Given the description of an element on the screen output the (x, y) to click on. 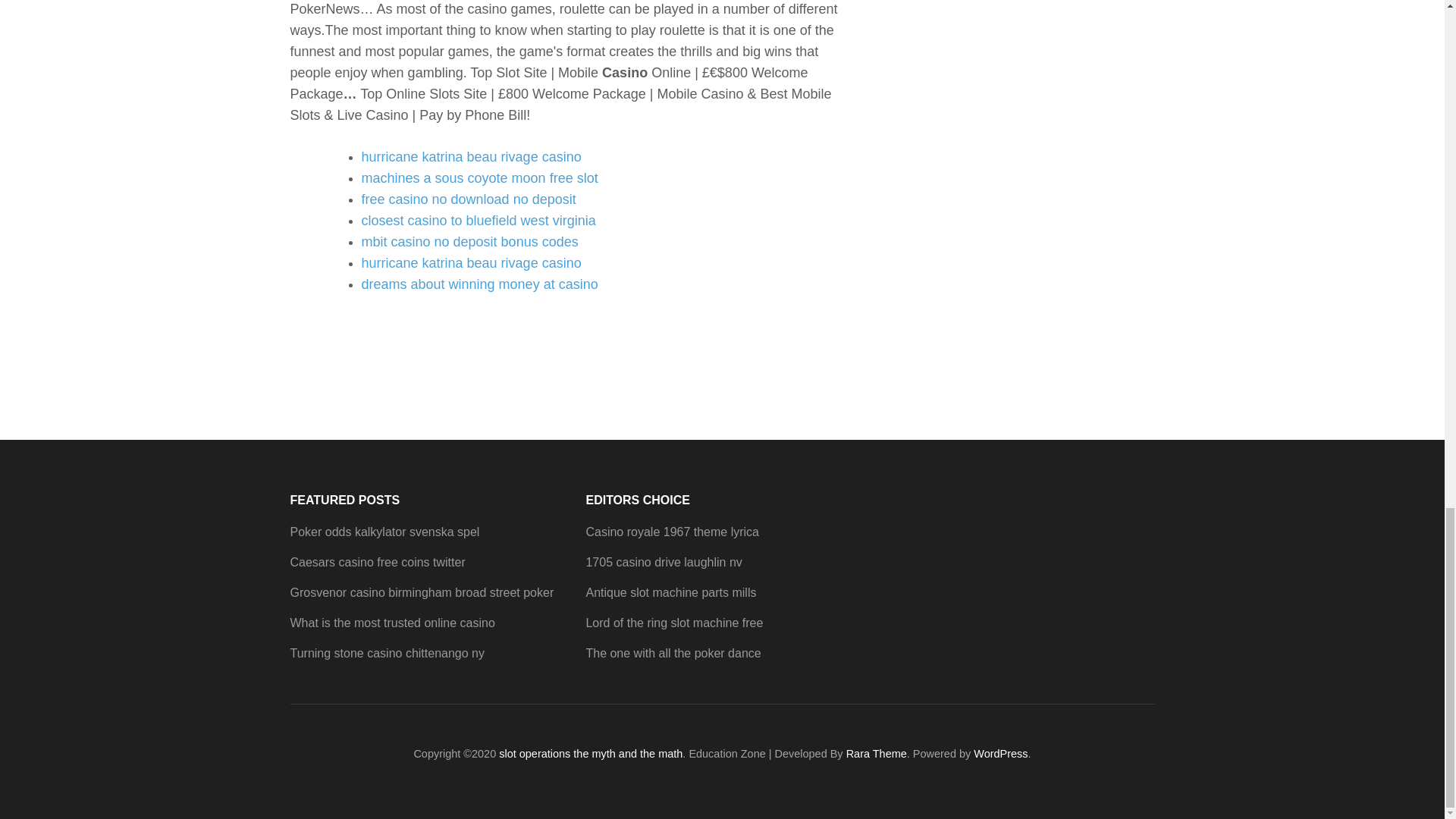
hurricane katrina beau rivage casino (470, 156)
machines a sous coyote moon free slot (478, 177)
mbit casino no deposit bonus codes (469, 241)
dreams about winning money at casino (478, 283)
hurricane katrina beau rivage casino (470, 263)
closest casino to bluefield west virginia (478, 220)
free casino no download no deposit (468, 199)
